Given the description of an element on the screen output the (x, y) to click on. 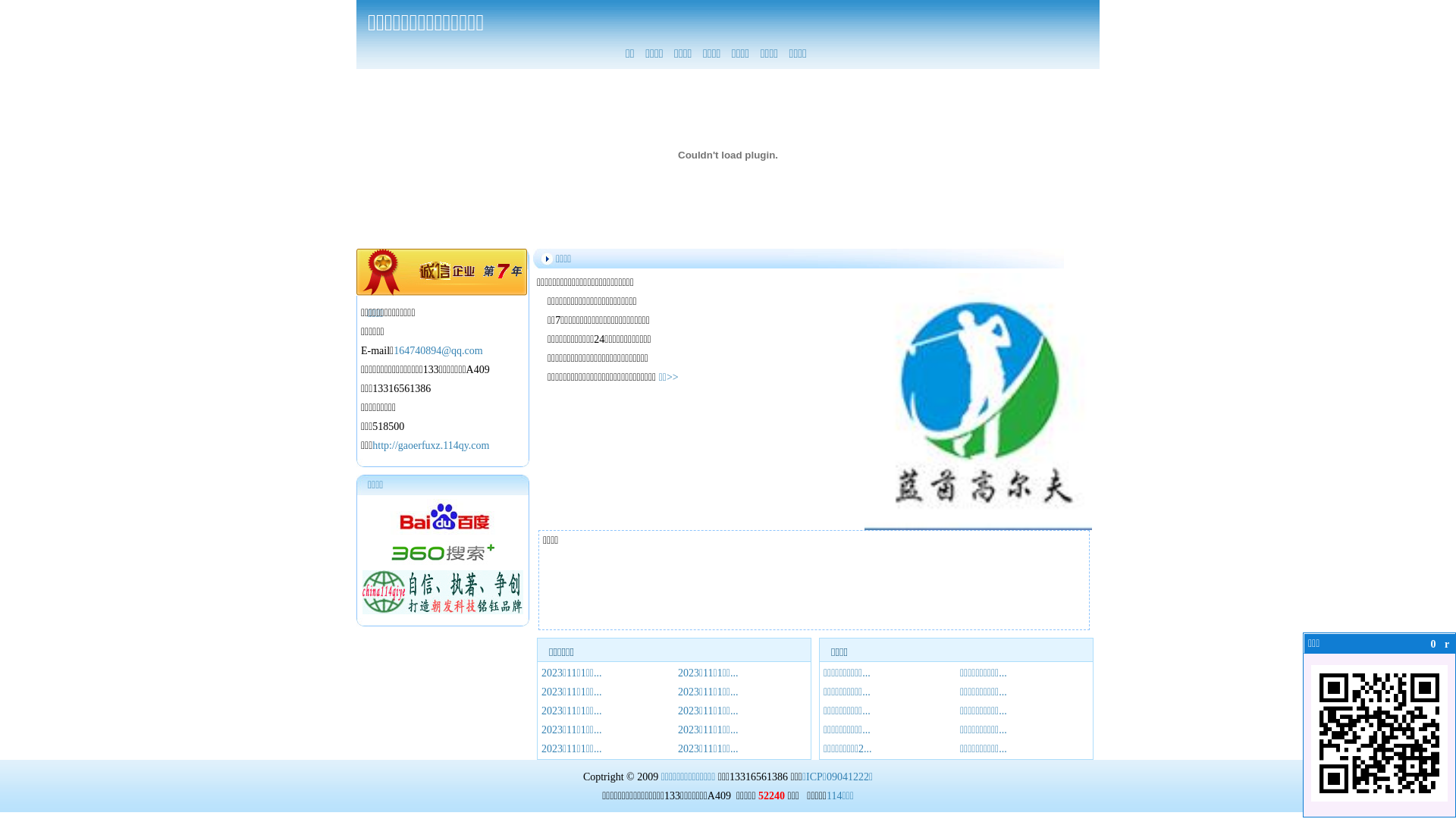
r Element type: text (1446, 644)
http://gaoerfuxz.114qy.com Element type: text (430, 445)
164740894@qq.com Element type: text (438, 350)
0 Element type: text (1433, 644)
